Given the description of an element on the screen output the (x, y) to click on. 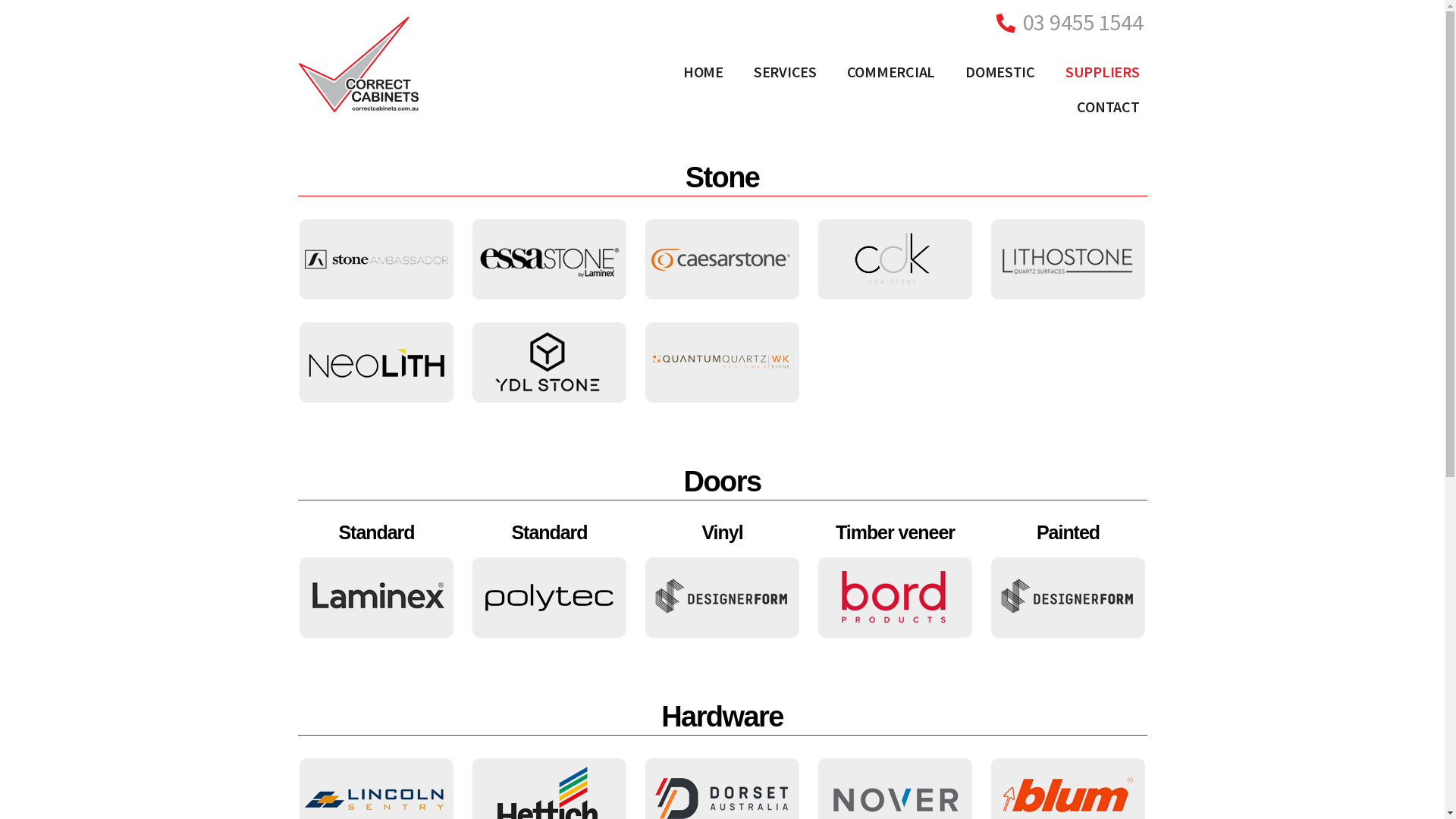
SUPPLIERS Element type: text (1102, 71)
COMMERCIAL Element type: text (890, 71)
HOME Element type: text (703, 71)
CONTACT Element type: text (1107, 106)
SERVICES Element type: text (784, 71)
DOMESTIC Element type: text (1000, 71)
